Given the description of an element on the screen output the (x, y) to click on. 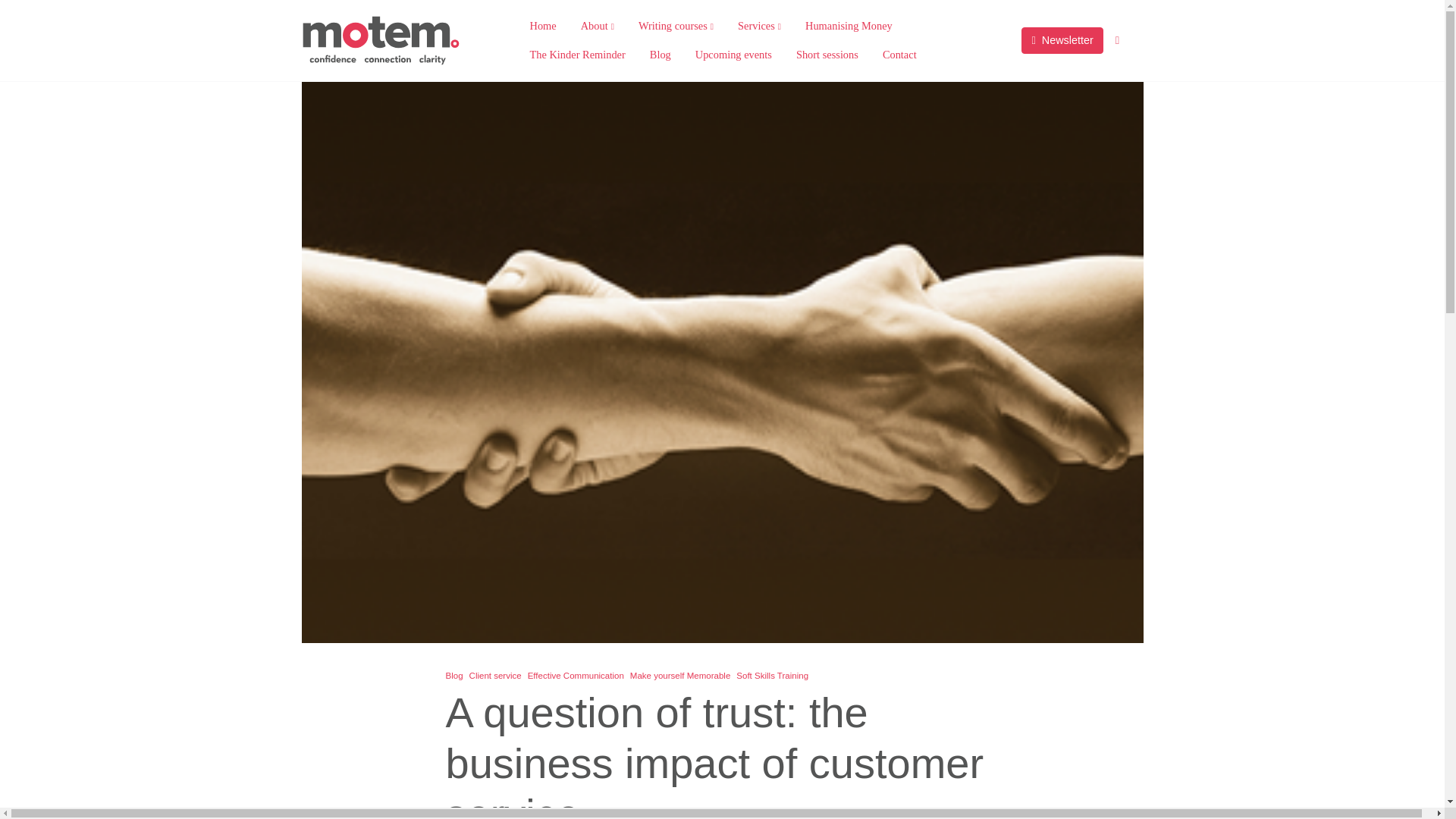
Blog (659, 54)
About (597, 26)
The Kinder Reminder (576, 54)
Blog (454, 675)
Services (759, 26)
The Kinder Reminder (576, 54)
Newsletter (1062, 40)
Home (541, 26)
Short sessions (827, 54)
Contact (899, 54)
Client service (494, 675)
Short sessions (827, 54)
Humanising Money (848, 26)
About (597, 26)
Upcoming events (733, 54)
